Given the description of an element on the screen output the (x, y) to click on. 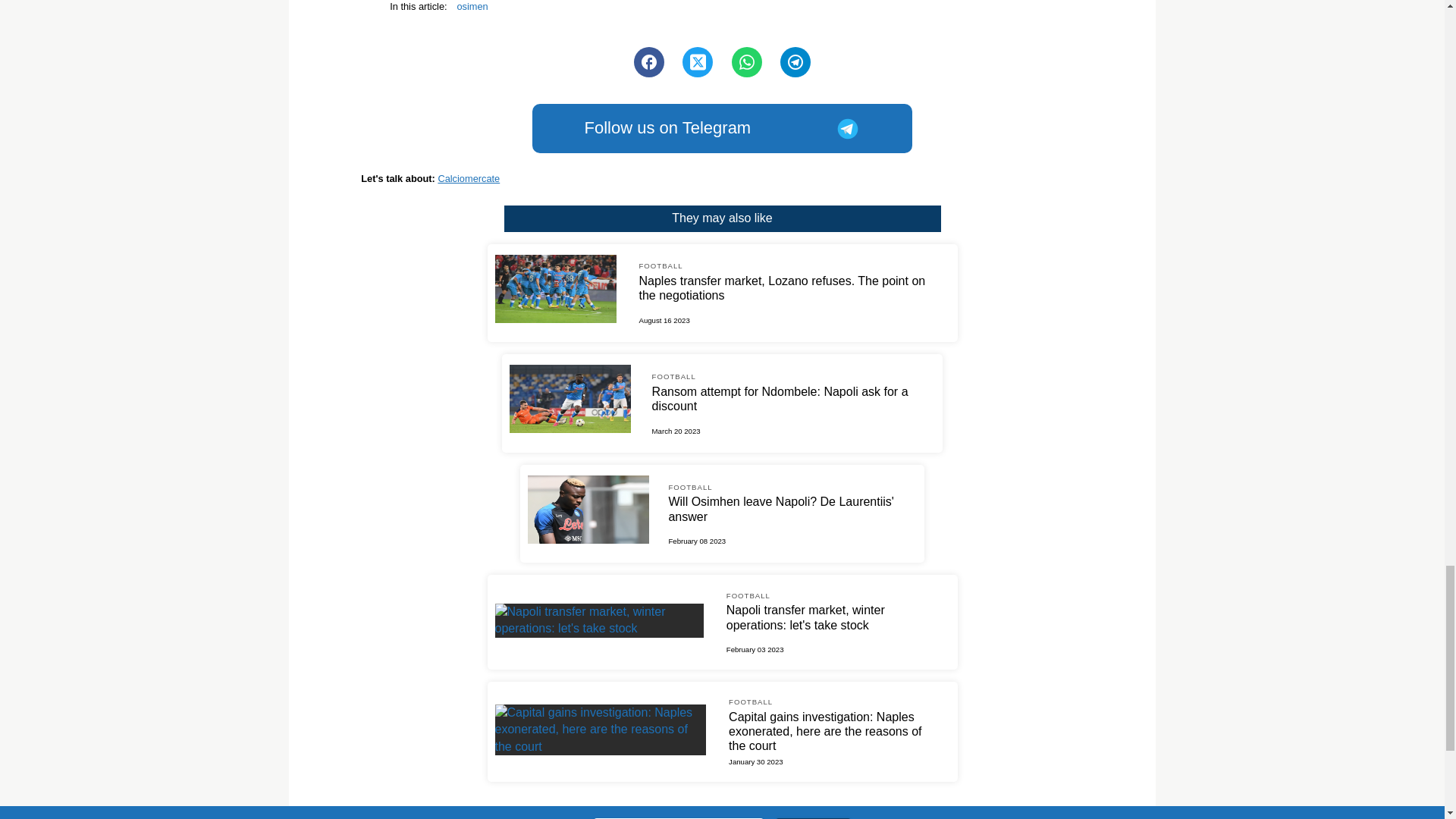
osimen (472, 7)
